Given the description of an element on the screen output the (x, y) to click on. 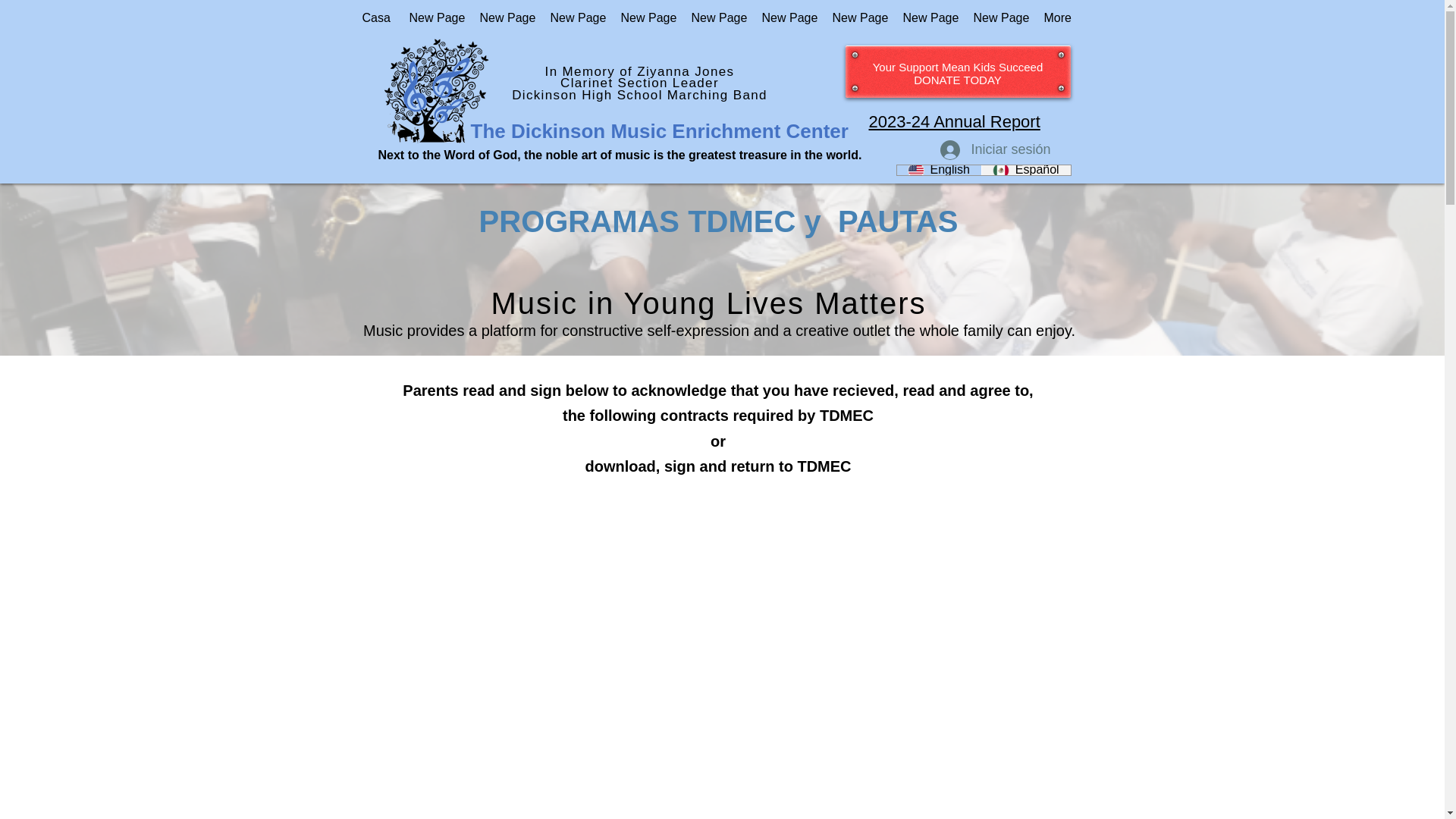
New Page (644, 18)
New Page (503, 18)
New Page (786, 18)
New Page (856, 18)
Casa (373, 18)
New Page (573, 18)
New Page (432, 18)
New Page (714, 18)
New Page (926, 18)
